Given the description of an element on the screen output the (x, y) to click on. 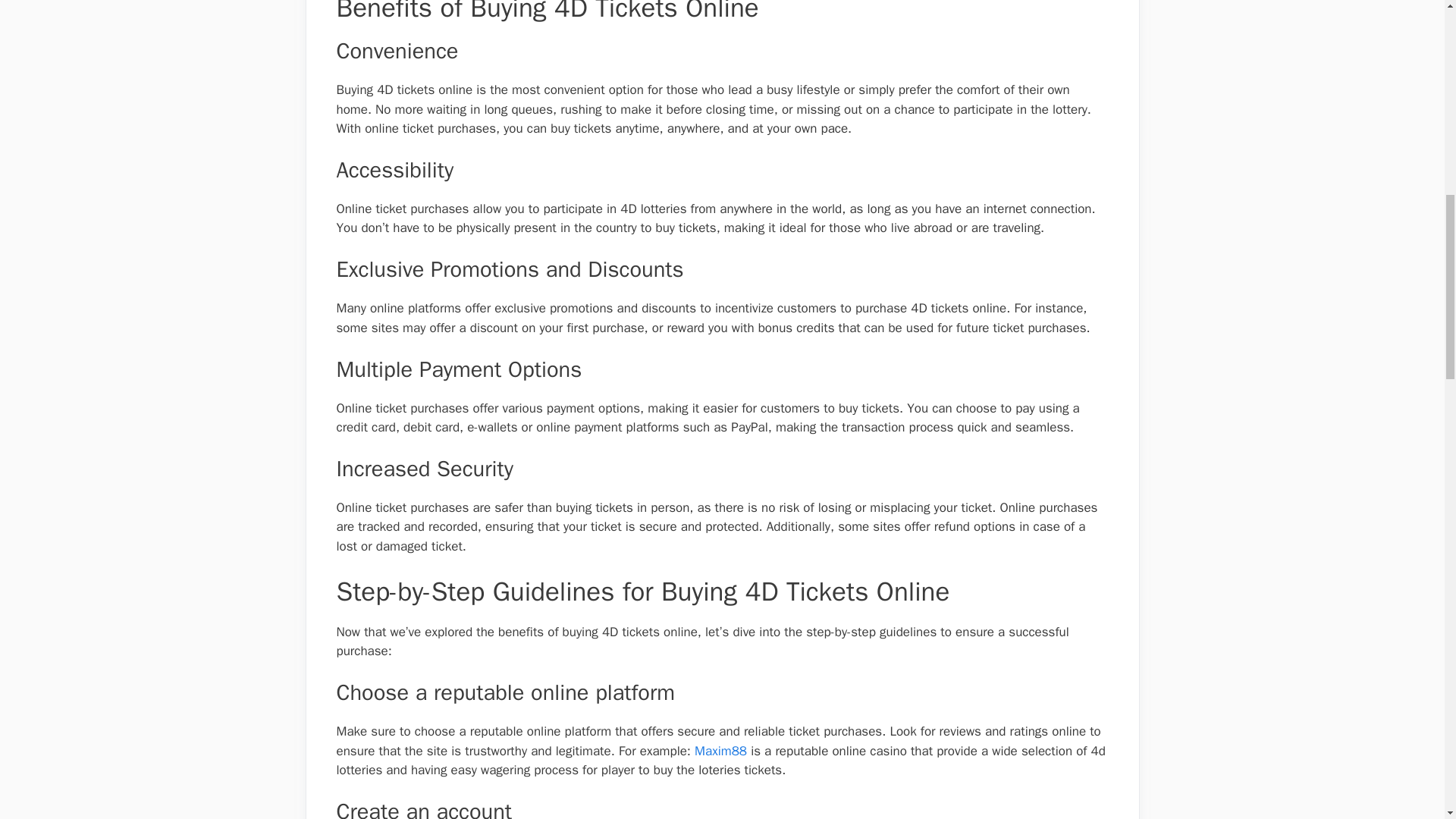
Maxim88 (720, 750)
